Given the description of an element on the screen output the (x, y) to click on. 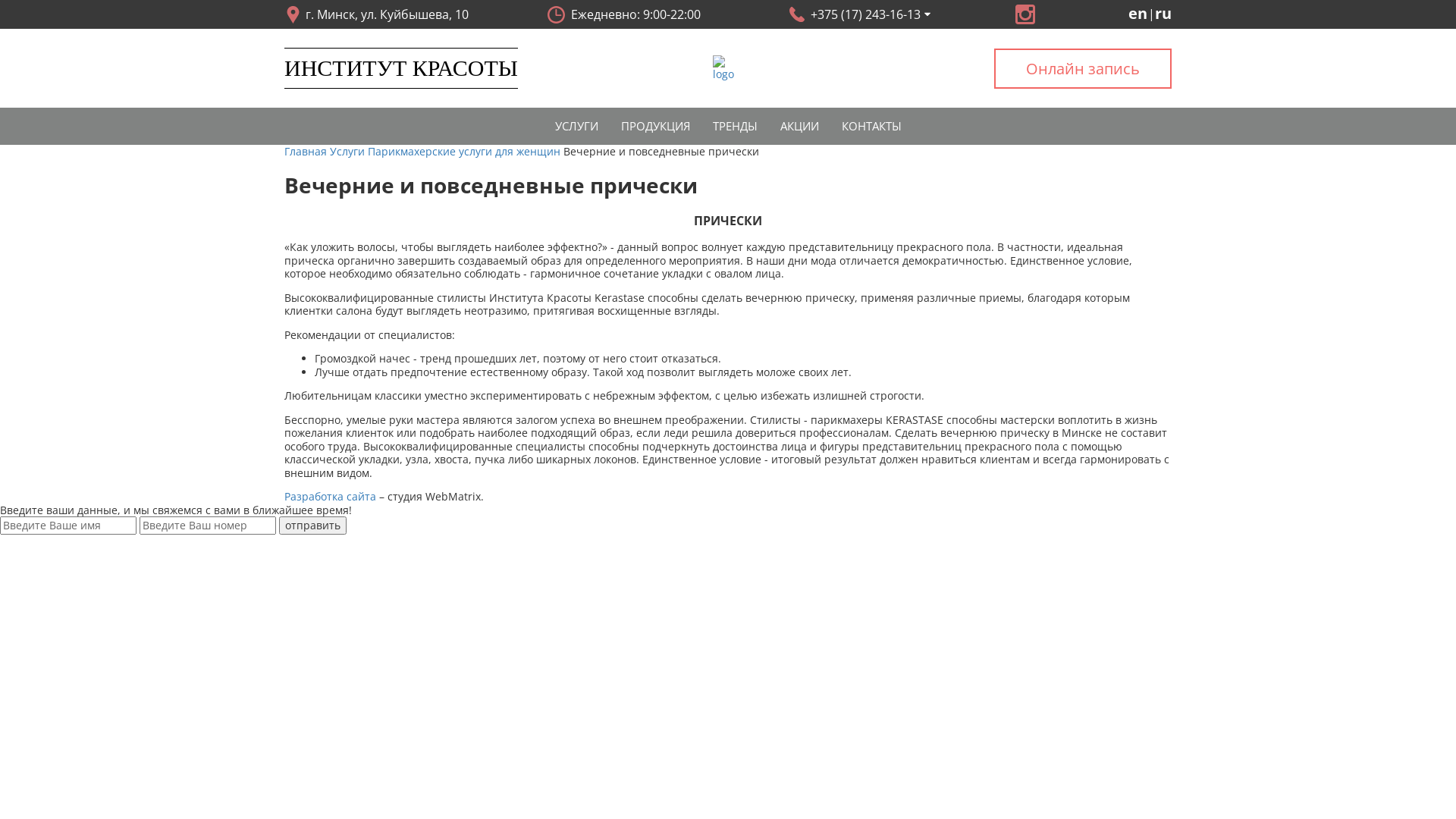
en Element type: text (1137, 12)
+375 (17) 243-16-13 Element type: text (857, 14)
